Given the description of an element on the screen output the (x, y) to click on. 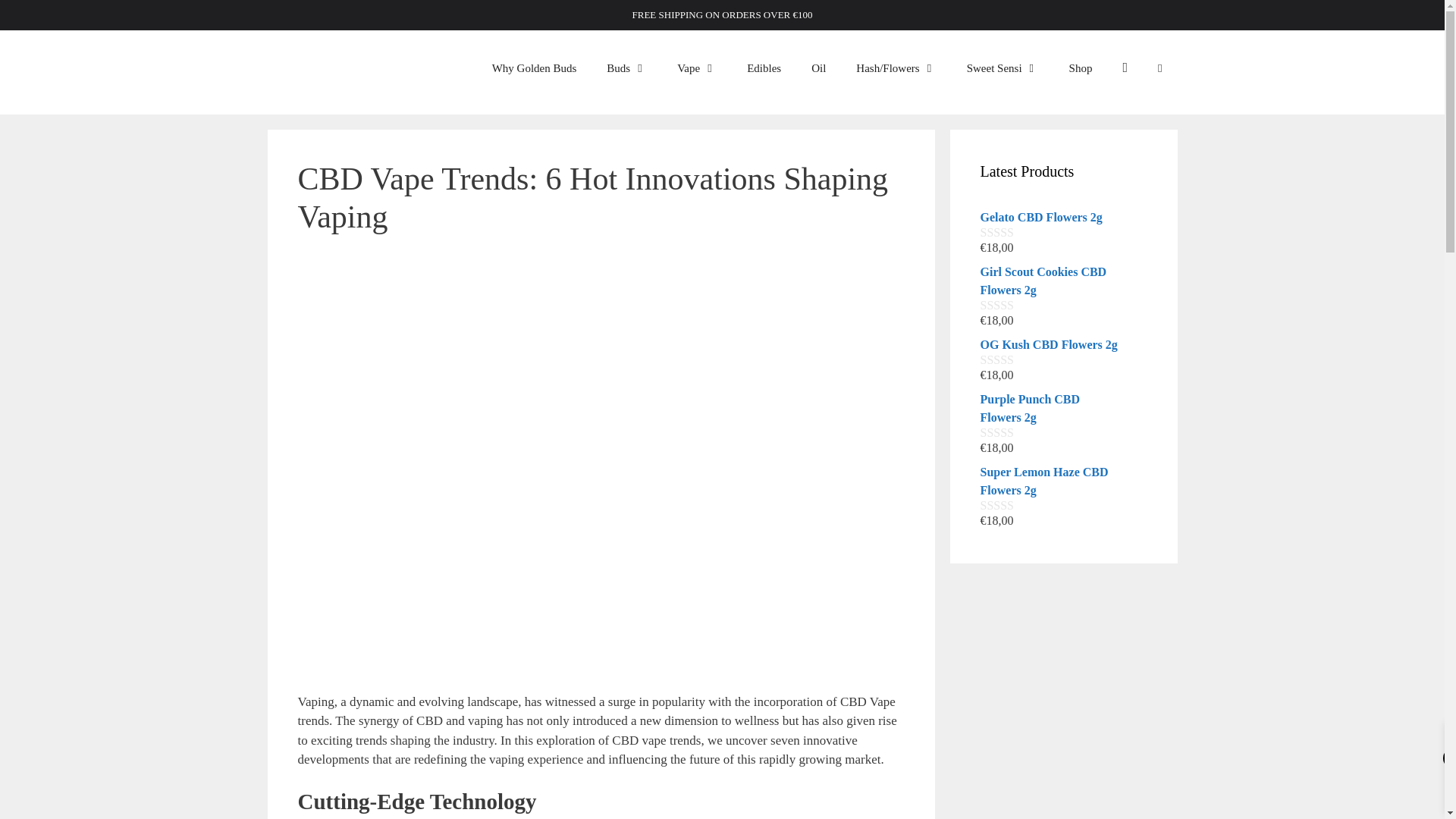
Edibles (764, 67)
Oil (818, 67)
Why Golden Buds (534, 67)
Vape (697, 67)
Buds (626, 67)
Shop (1081, 67)
Sweet Sensi (1003, 67)
